Given the description of an element on the screen output the (x, y) to click on. 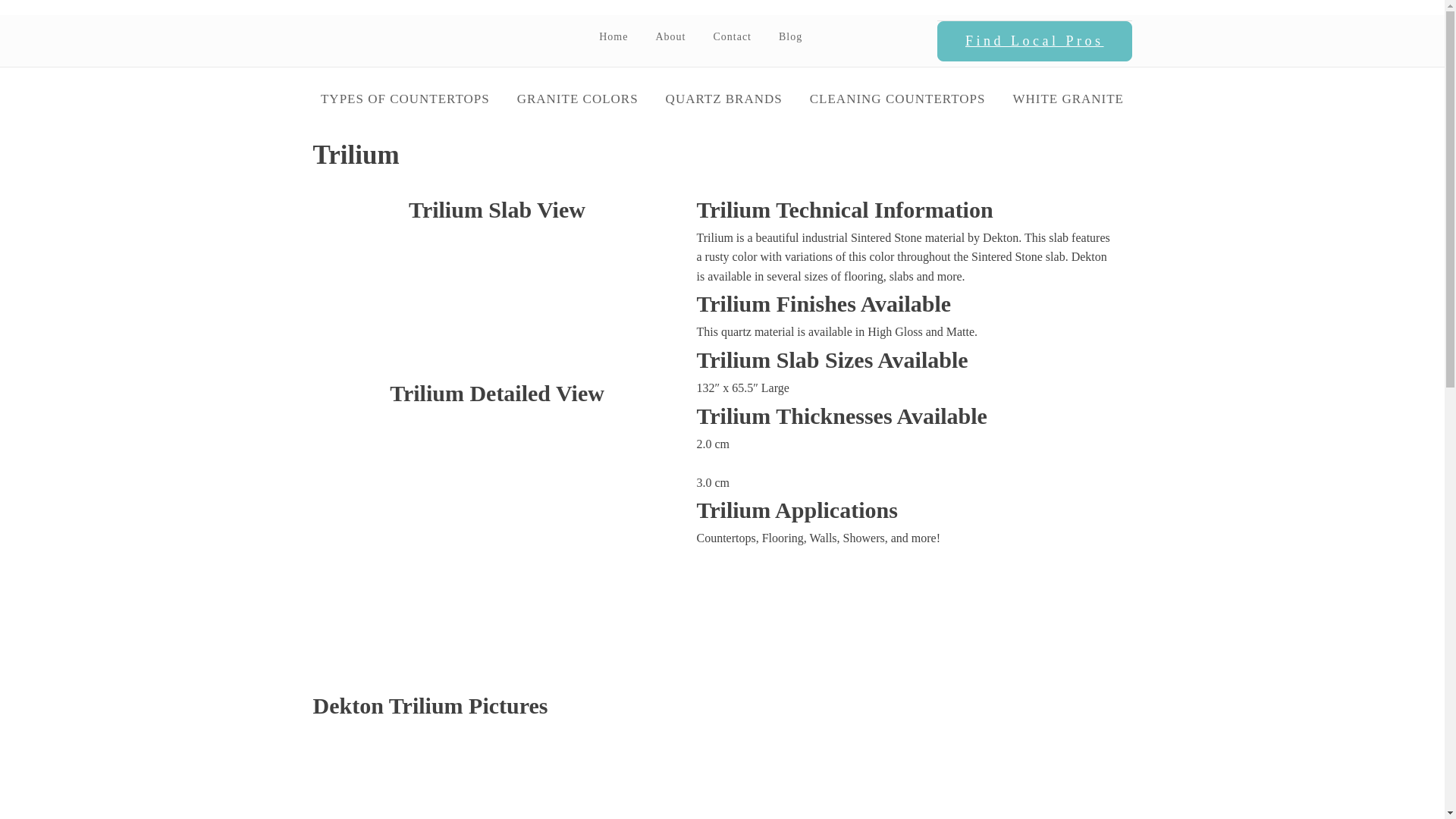
About (670, 36)
TYPES OF COUNTERTOPS (405, 98)
QUARTZ BRANDS (724, 98)
CLEANING COUNTERTOPS (897, 98)
Blog (790, 36)
Find Local Pros (1034, 41)
WHITE GRANITE (1067, 98)
Contact (731, 36)
GRANITE COLORS (577, 98)
Home (613, 36)
